Given the description of an element on the screen output the (x, y) to click on. 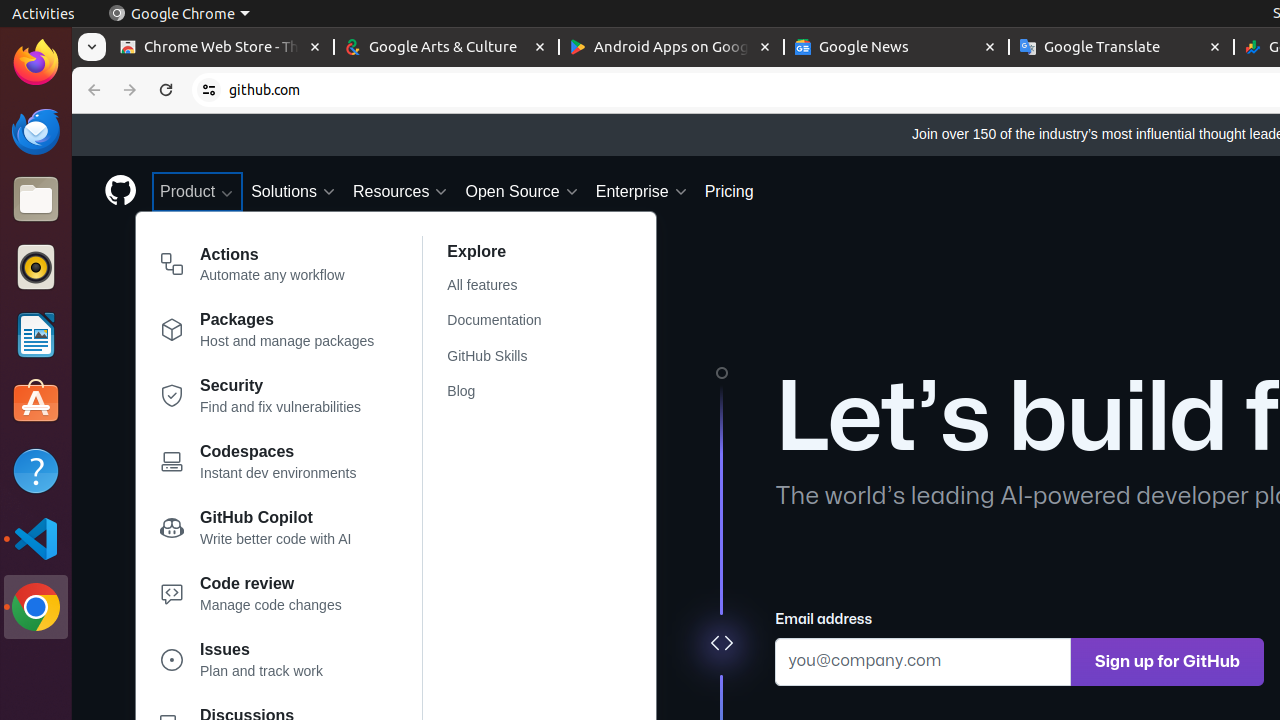
Documentation Element type: link (506, 321)
Sign up for GitHub Element type: push-button (1167, 661)
Firefox Web Browser Element type: push-button (36, 63)
Reload Element type: push-button (166, 90)
Security Find and fix vulnerabilities Element type: link (267, 400)
